Given the description of an element on the screen output the (x, y) to click on. 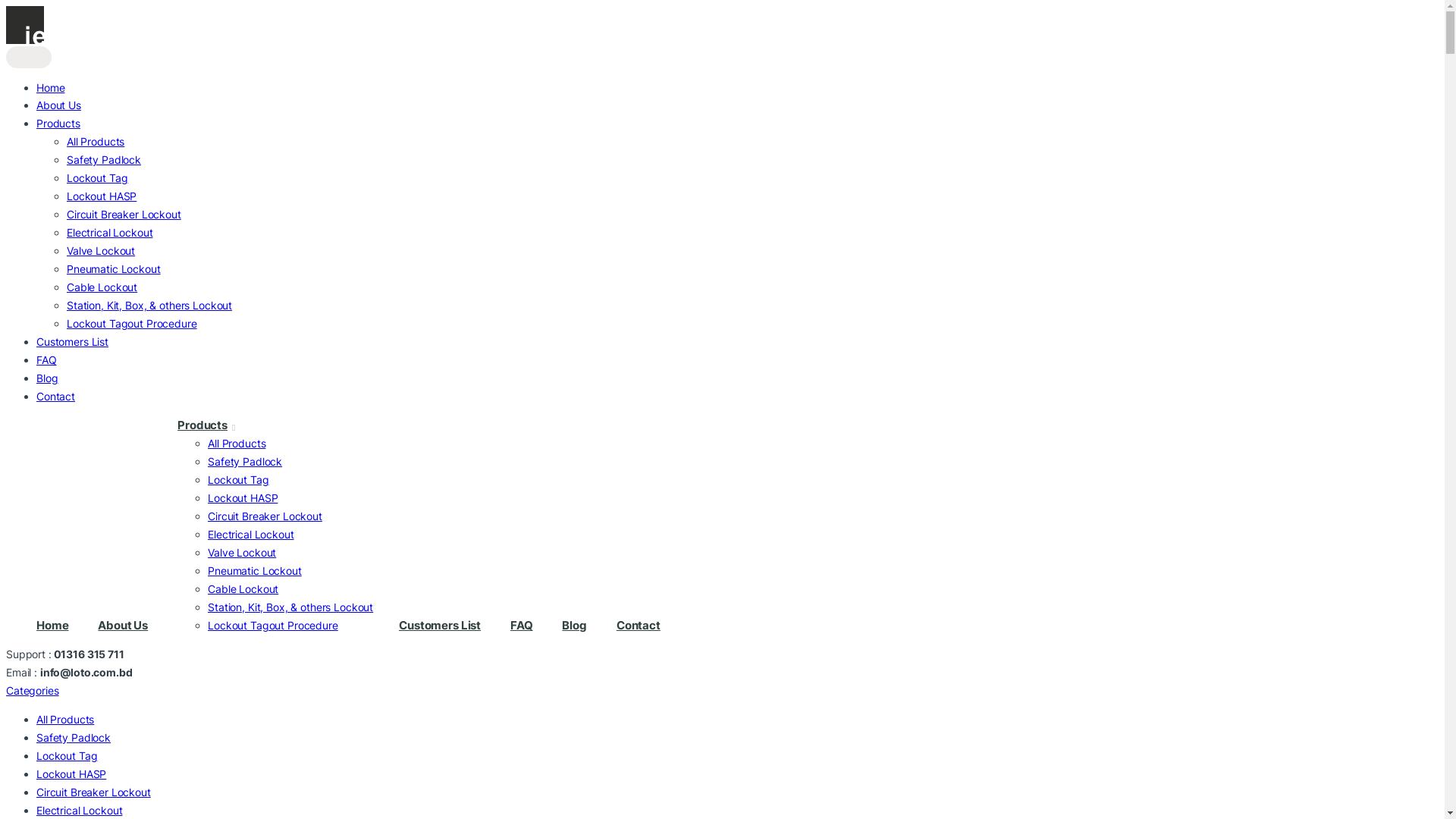
Pneumatic Lockout Element type: text (113, 268)
Lockout Tag Element type: text (237, 479)
Circuit Breaker Lockout Element type: text (123, 213)
Lockout Tagout Procedure Element type: text (131, 322)
FAQ Element type: text (46, 359)
Cable Lockout Element type: text (101, 286)
Products Element type: text (206, 425)
Customers List Element type: text (72, 341)
Lockout Tagout Procedure Element type: text (272, 624)
All Products Element type: text (236, 442)
Station, Kit, Box, & others Lockout Element type: text (290, 606)
Lockout HASP Element type: text (242, 497)
Blog Element type: text (573, 625)
Skip to navigation Element type: text (5, 5)
About Us Element type: text (58, 104)
Contact Element type: text (55, 395)
Products Element type: text (58, 122)
Customers List Element type: text (439, 625)
Pneumatic Lockout Element type: text (254, 570)
Safety Padlock Element type: text (244, 461)
All Products Element type: text (65, 718)
Valve Lockout Element type: text (241, 552)
Circuit Breaker Lockout Element type: text (93, 791)
Valve Lockout Element type: text (100, 250)
All Products Element type: text (95, 140)
Home Element type: text (50, 86)
FAQ Element type: text (521, 625)
Lockout Tag Element type: text (66, 755)
Lockout Tag Element type: text (96, 177)
Safety Padlock Element type: text (73, 737)
Cable Lockout Element type: text (242, 588)
Lockout HASP Element type: text (71, 773)
Categories Element type: text (32, 690)
Blog Element type: text (46, 377)
Contact Element type: text (638, 625)
Station, Kit, Box, & others Lockout Element type: text (149, 304)
Home Element type: text (52, 625)
Lockout HASP Element type: text (101, 195)
Electrical Lockout Element type: text (250, 533)
Electrical Lockout Element type: text (109, 231)
Safety Padlock Element type: text (103, 159)
About Us Element type: text (122, 625)
Circuit Breaker Lockout Element type: text (264, 515)
Electrical Lockout Element type: text (79, 809)
